Given the description of an element on the screen output the (x, y) to click on. 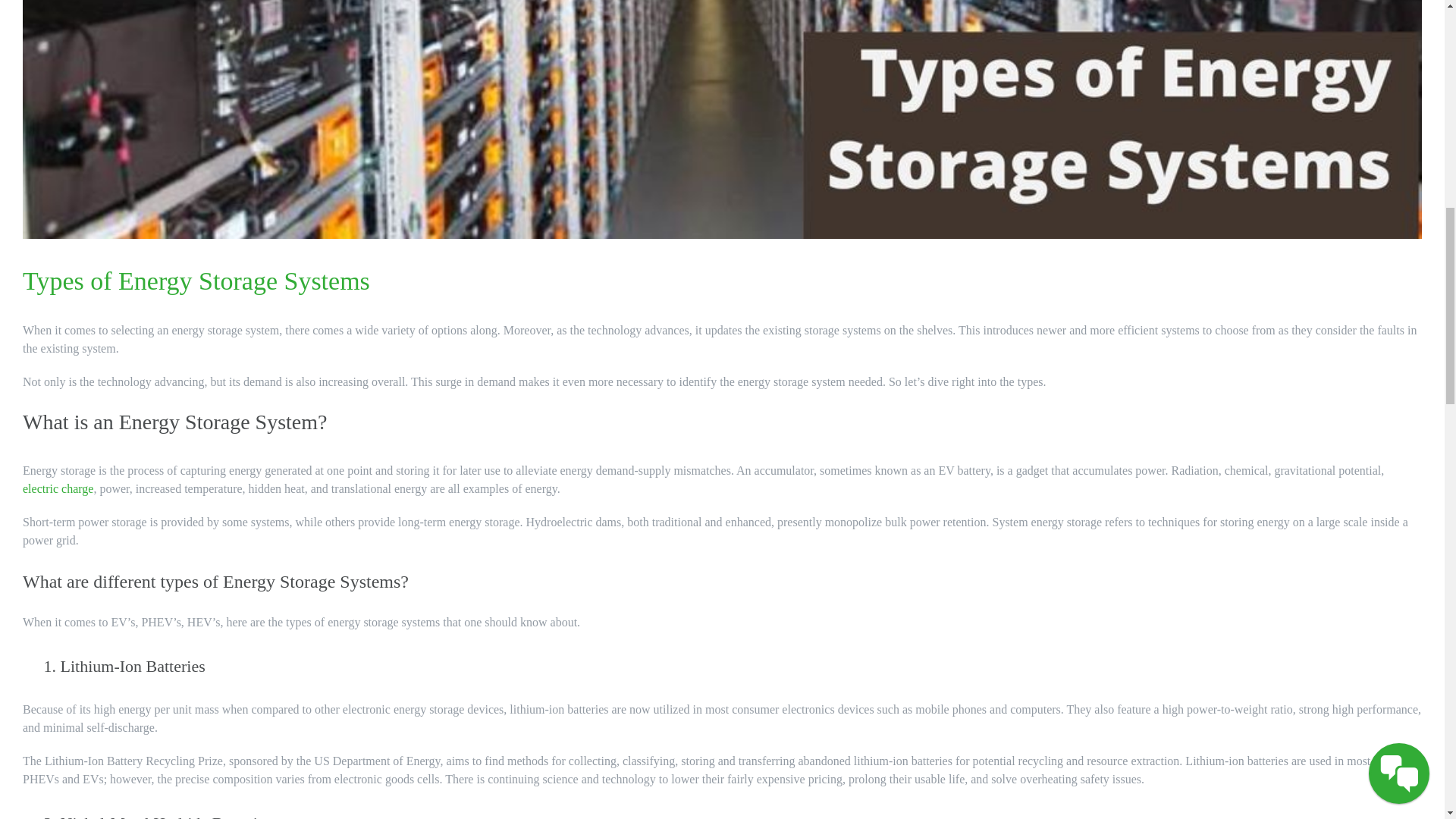
electric charge (58, 488)
